Given the description of an element on the screen output the (x, y) to click on. 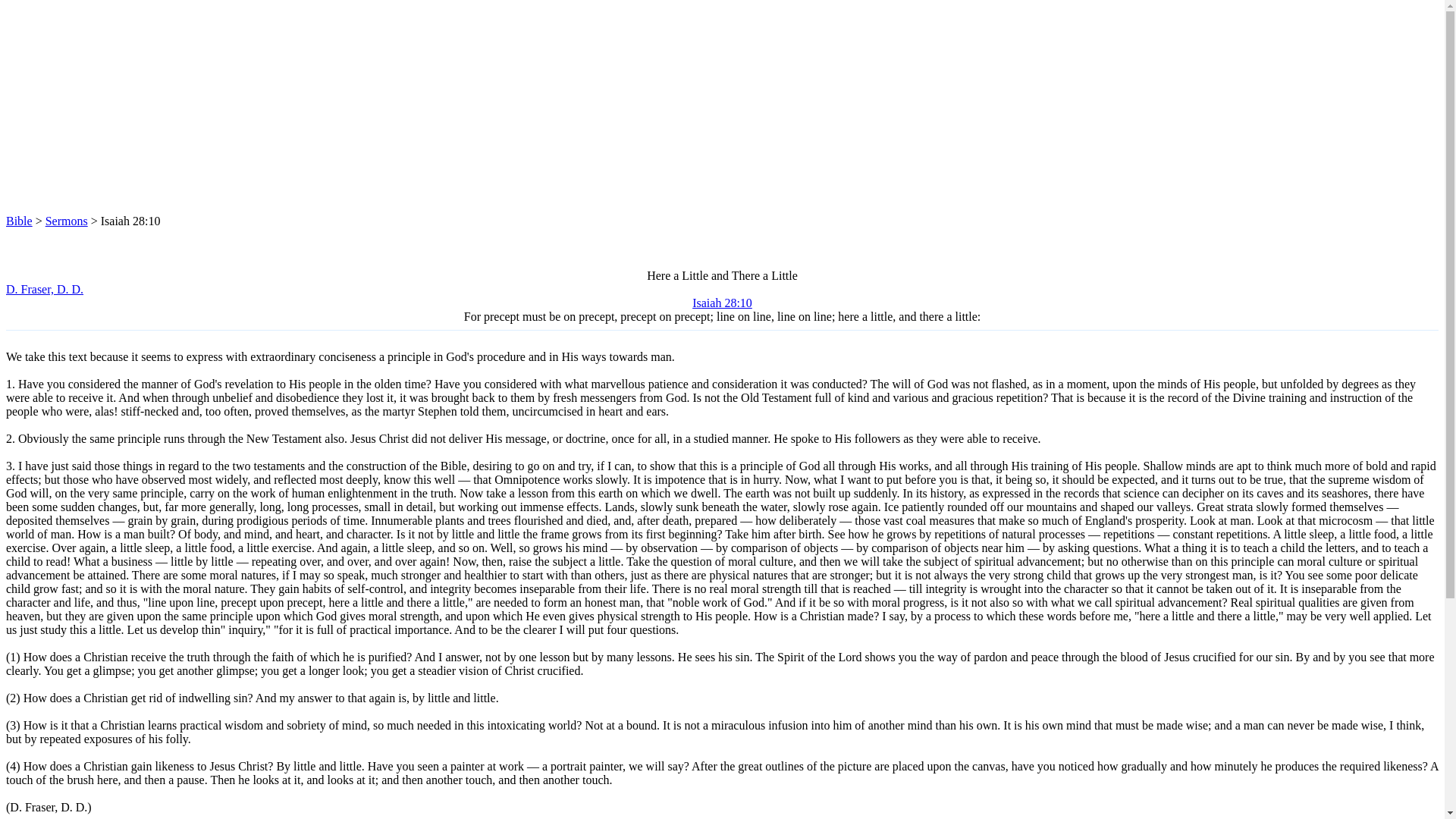
Bible (18, 220)
Sermons (66, 220)
D. Fraser, D. D. (43, 288)
Isaiah 28:10 (722, 302)
